Given the description of an element on the screen output the (x, y) to click on. 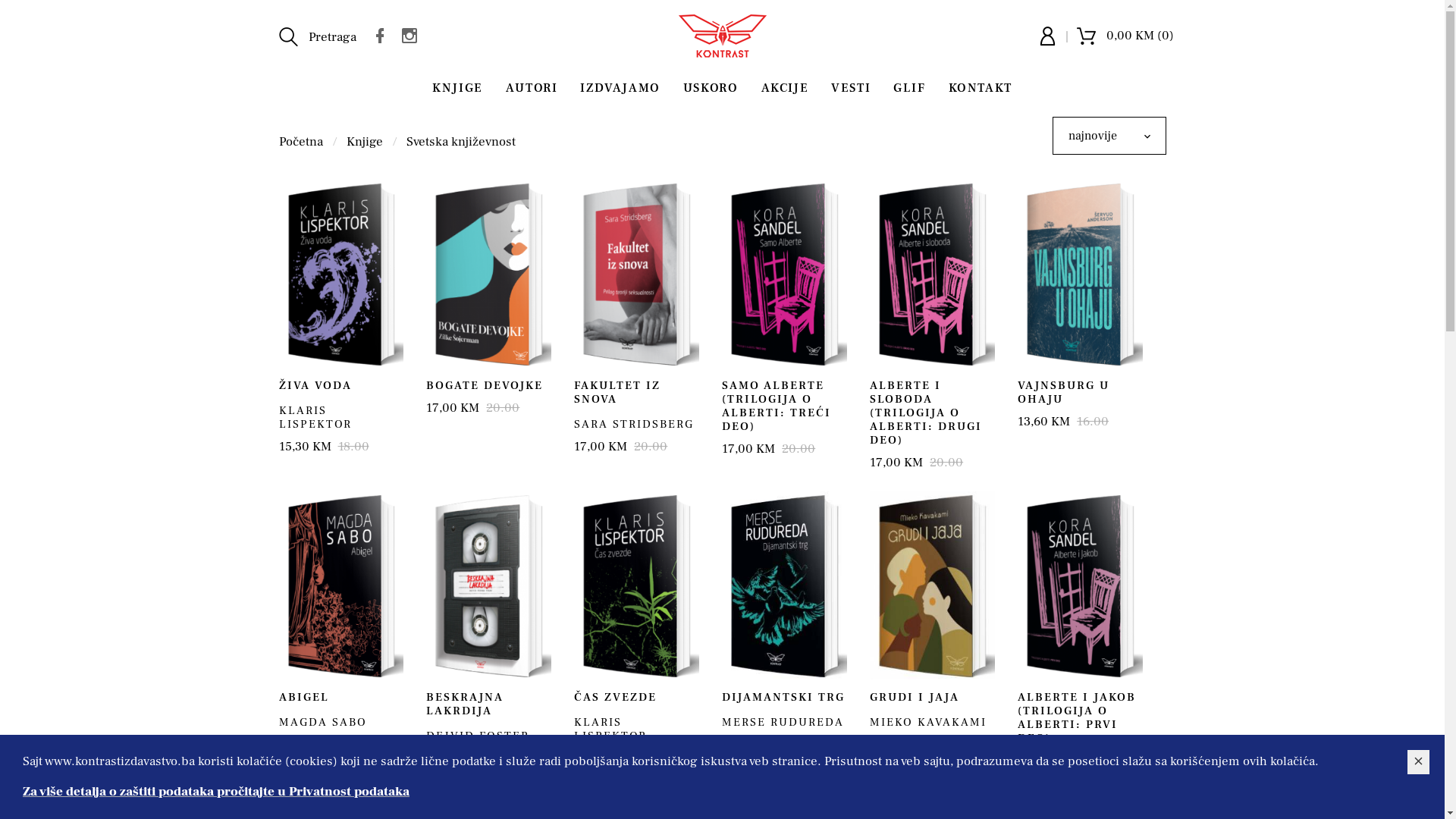
AKCIJE Element type: text (785, 89)
VESTI Element type: text (850, 89)
BESKRAJNA LAKRDIJA Element type: text (464, 704)
vajnsburg u ohaju  Element type: hover (1079, 273)
KLARIS LISPEKTOR Element type: text (610, 729)
MERSE RUDUREDA Element type: text (782, 722)
fakultet iz snova sara stridsberg Element type: hover (636, 273)
IZDVAJAMO Element type: text (619, 89)
MAGDA SABO Element type: text (323, 722)
Facebook Element type: hover (382, 34)
FAKULTET IZ SNOVA Element type: text (617, 392)
alberte i jakob (trilogija o alberti prvi deo)  Element type: hover (1079, 585)
abigel magda sabo Element type: hover (341, 585)
bogate devojke  Element type: hover (488, 273)
Instagram Element type: hover (413, 34)
0,00 KM (0) Element type: text (1124, 34)
AUTORI Element type: text (531, 89)
KONTAKT Element type: text (980, 89)
KLARIS LISPEKTOR Element type: text (315, 417)
USKORO Element type: text (710, 89)
DIJAMANTSKI TRG Element type: text (782, 697)
dijamantski trg merse rudureda Element type: hover (784, 585)
Knjige Element type: text (363, 141)
ALBERTE I SLOBODA (TRILOGIJA O ALBERTI: DRUGI DEO) Element type: text (925, 412)
grudi i jaja mieko kavakami Element type: hover (931, 585)
KNJIGE Element type: text (457, 89)
alberte i sloboda (trilogija o alberti drugi deo)  Element type: hover (931, 273)
ALBERTE I JAKOB (TRILOGIJA O ALBERTI: PRVI DEO) Element type: text (1076, 717)
GRUDI I JAJA Element type: text (914, 697)
BOGATE DEVOJKE Element type: text (484, 385)
beskrajna lakrdija dejvid foster volas Element type: hover (488, 585)
VAJNSBURG U OHAJU Element type: text (1063, 392)
GLIF Element type: text (909, 89)
MIEKO KAVAKAMI Element type: text (927, 722)
SARA STRIDSBERG Element type: text (633, 424)
ABIGEL Element type: text (304, 697)
DEJVID FOSTER VOLAS Element type: text (477, 742)
